Given the description of an element on the screen output the (x, y) to click on. 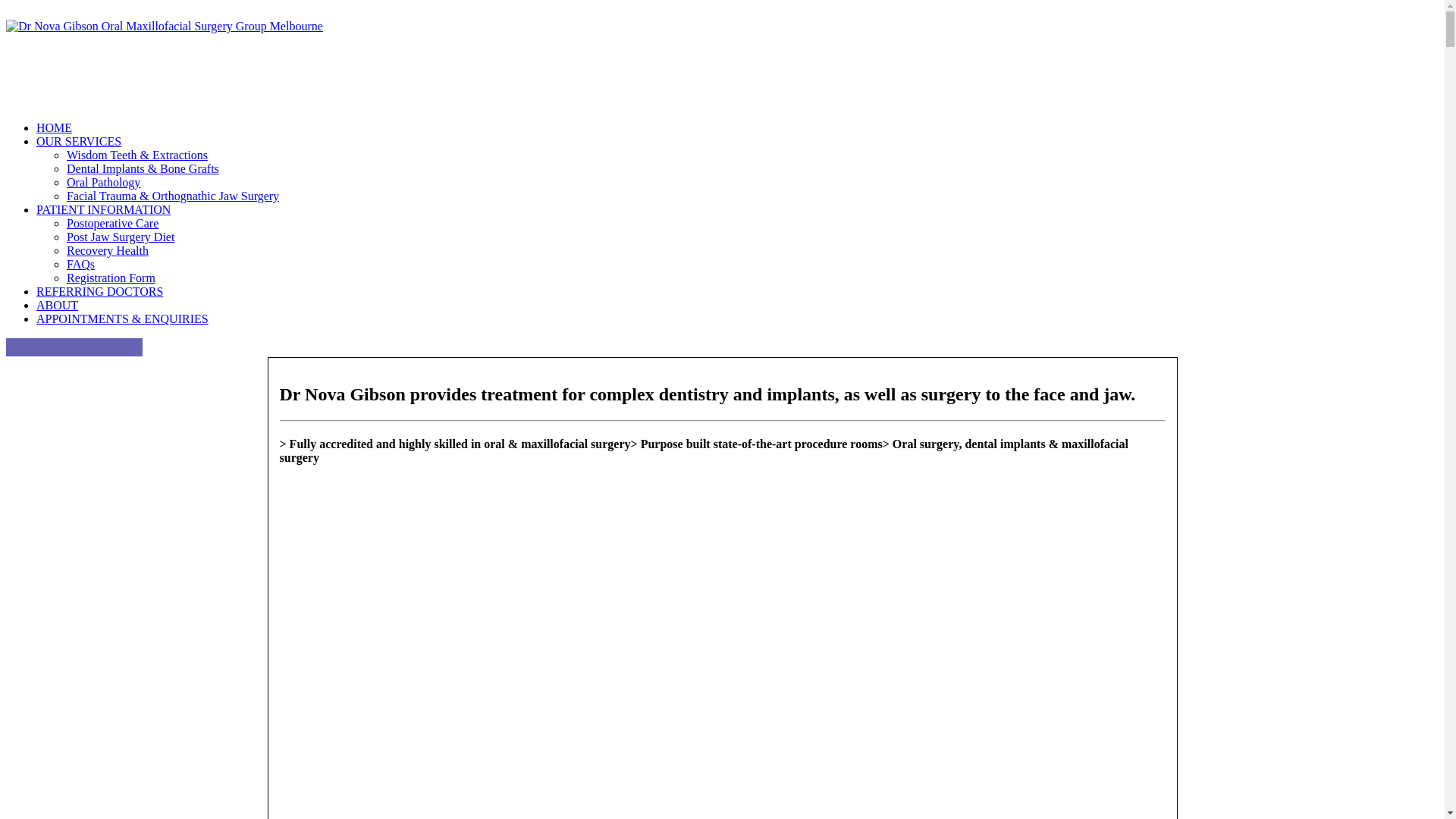
Oral Pathology Element type: text (103, 181)
FAQs Element type: text (80, 263)
Facial Trauma & Orthognathic Jaw Surgery Element type: text (172, 195)
APPOINTMENTS & ENQUIRIES Element type: text (737, 319)
Dental Implants & Bone Grafts Element type: text (142, 168)
PATIENT INFORMATION Element type: text (103, 209)
Postoperative Care Element type: text (112, 222)
Wisdom Teeth & Extractions Element type: text (136, 154)
HOME Element type: text (54, 127)
OUR SERVICES Element type: text (78, 140)
Registration Form Element type: text (110, 277)
Recovery Health Element type: text (107, 250)
Post Jaw Surgery Diet Element type: text (120, 236)
ABOUT Element type: text (57, 304)
REFERRING DOCTORS Element type: text (99, 291)
